Given the description of an element on the screen output the (x, y) to click on. 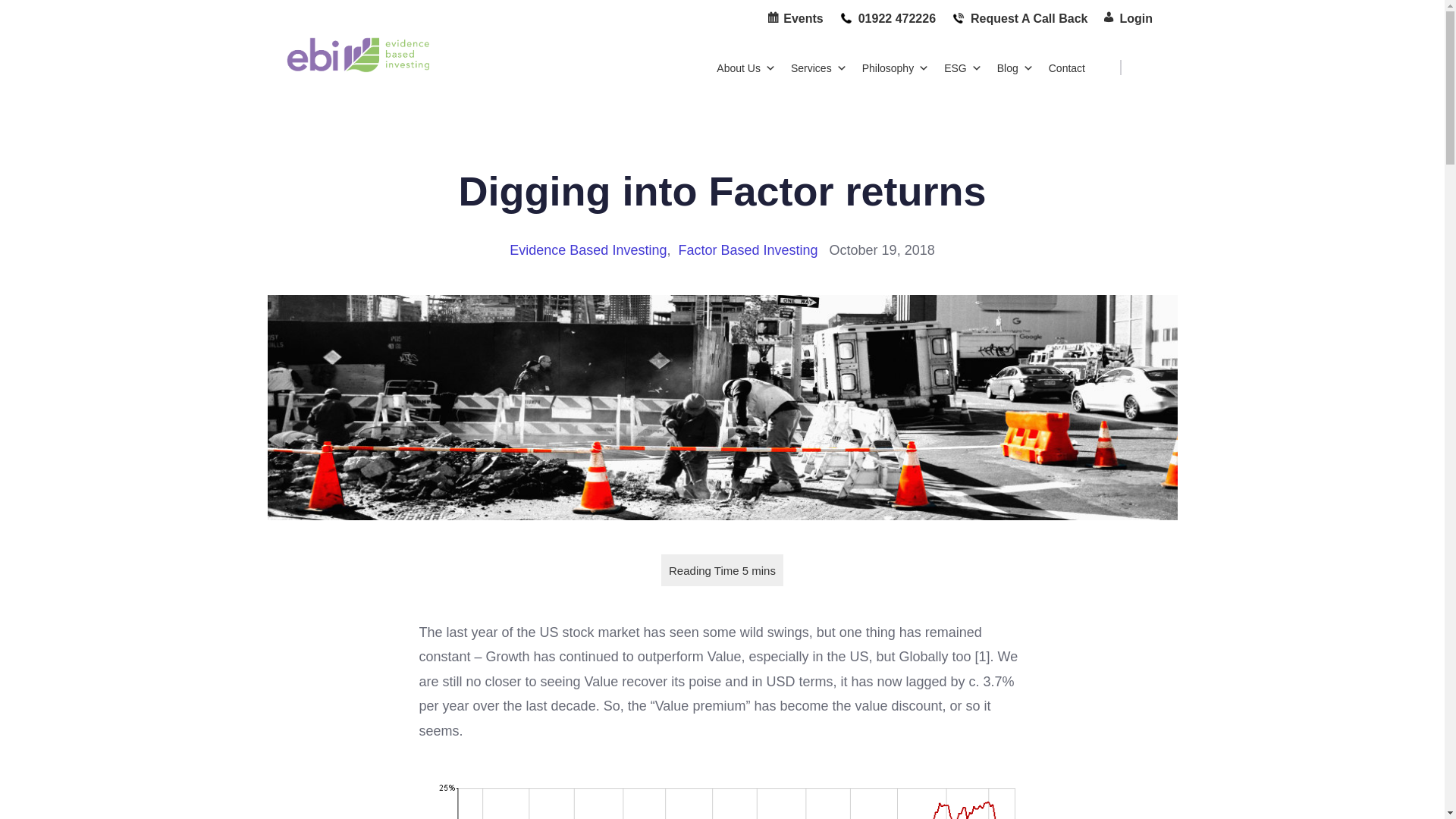
Search (59, 16)
